Given the description of an element on the screen output the (x, y) to click on. 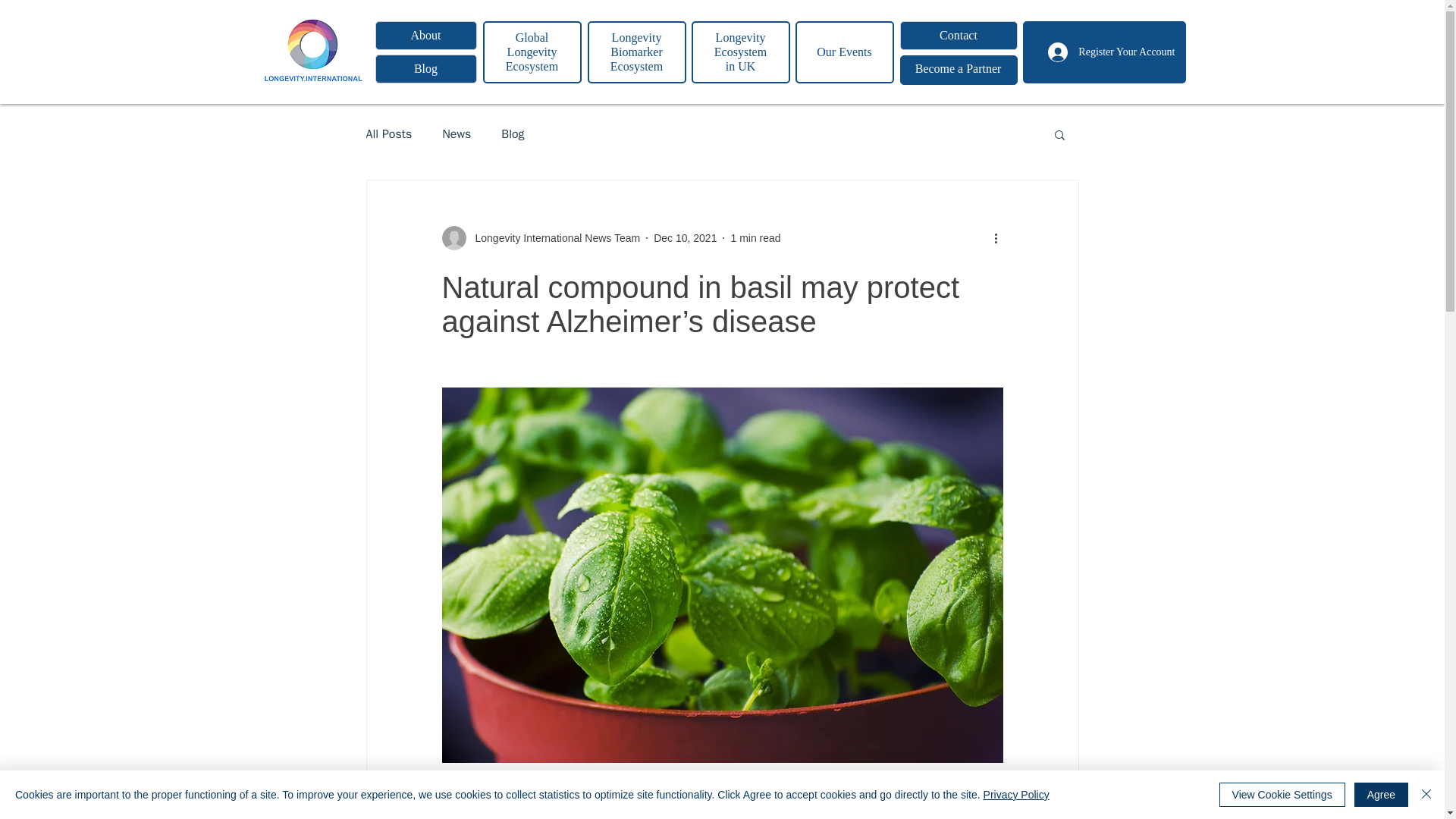
About (425, 35)
Contact (957, 35)
Register Your Account (1110, 51)
News (456, 134)
Dec 10, 2021 (684, 237)
Blog (425, 68)
Longevity International News Team (540, 238)
Blog (512, 134)
1 min read (755, 237)
All Posts (388, 134)
Longevity International News Team (552, 238)
